Given the description of an element on the screen output the (x, y) to click on. 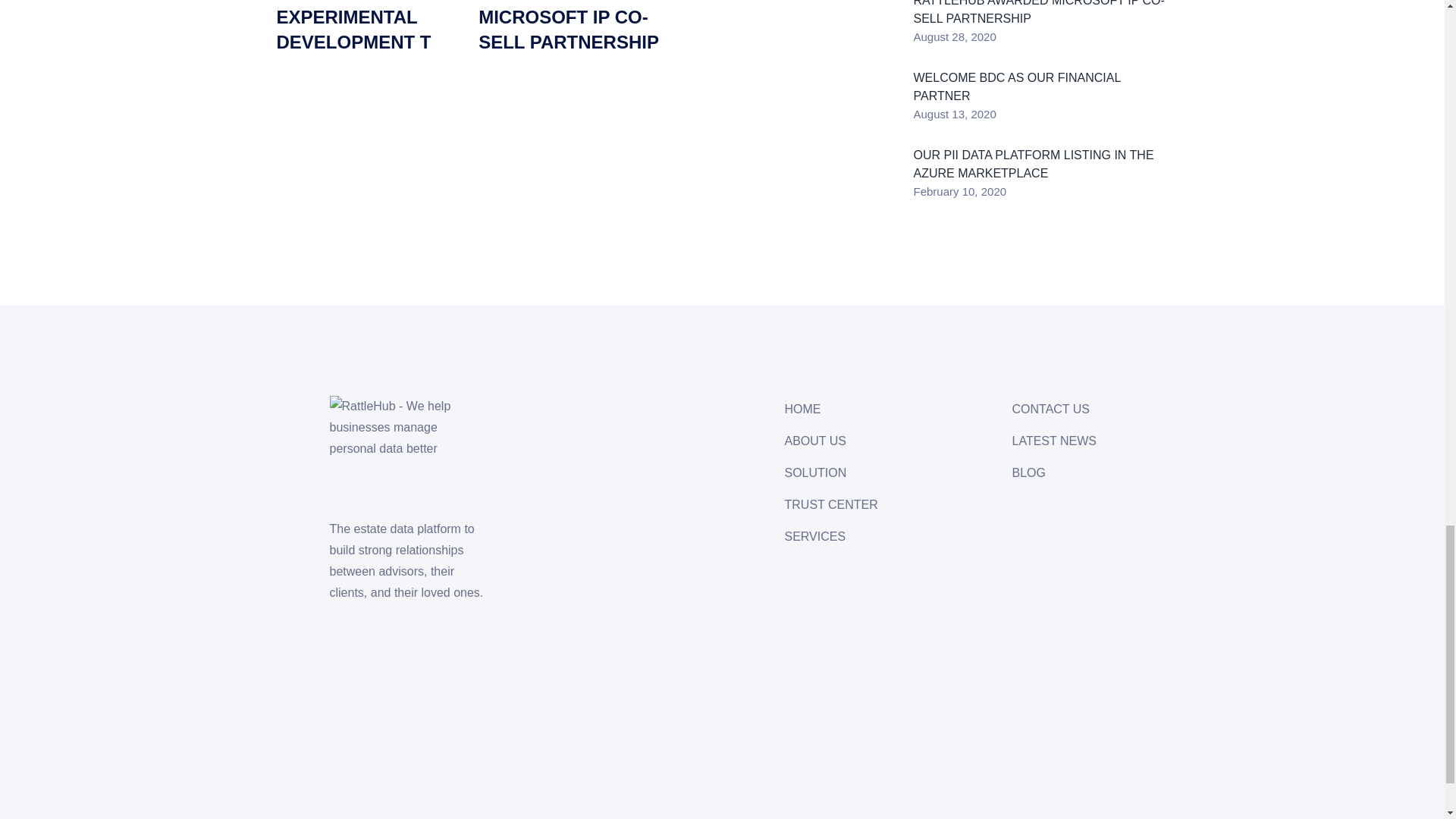
SCIENTIFIC RESEARCH AND EXPERIMENTAL DEVELOPMENT T (368, 27)
RATTLEHUB AWARDED MICROSOFT IP CO-SELL PARTNERSHIP (570, 27)
RATTLEHUB AWARDED MICROSOFT IP CO-SELL PARTNERSHIP (570, 27)
